Given the description of an element on the screen output the (x, y) to click on. 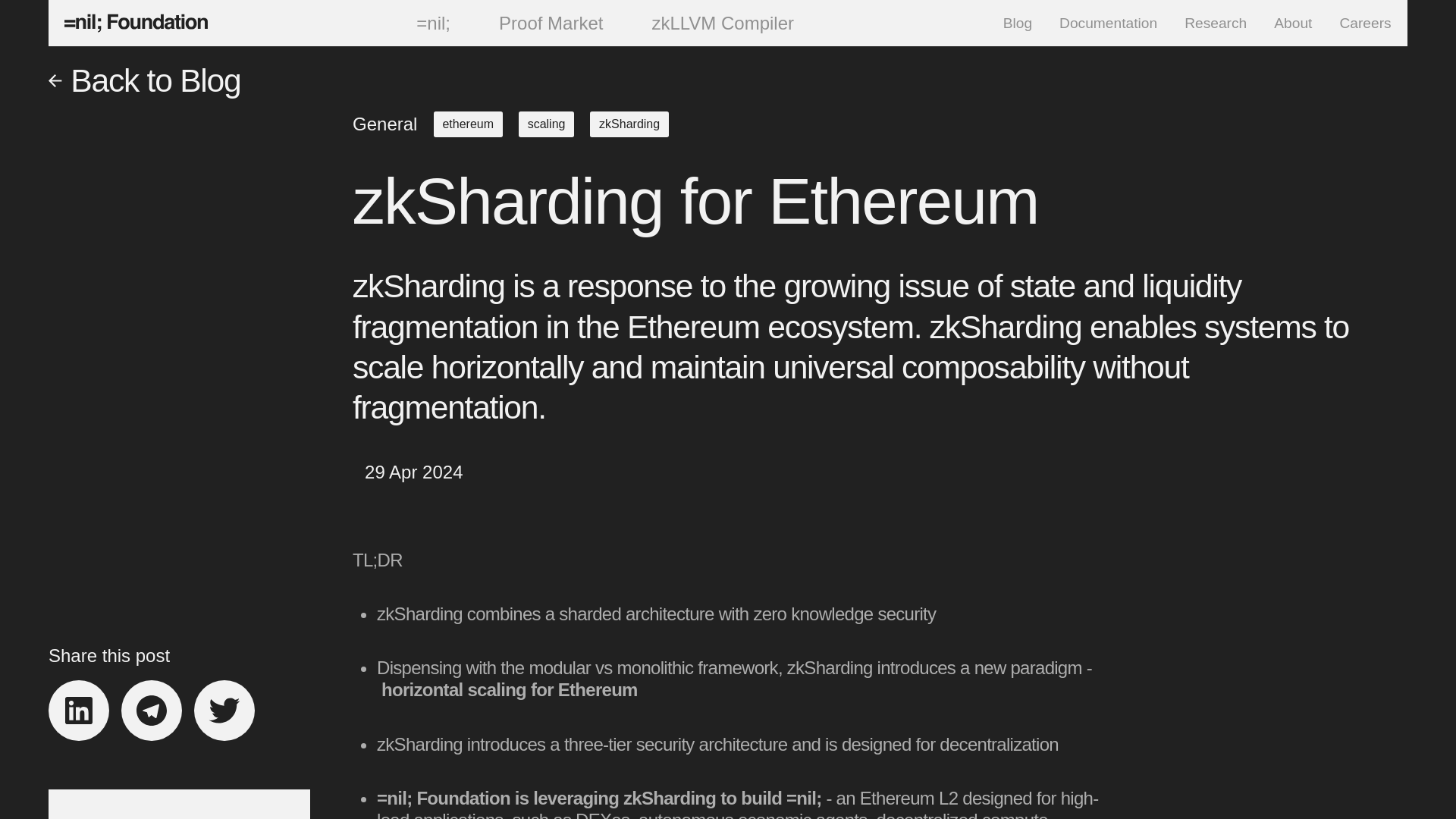
scaling (545, 124)
Documentation (1108, 22)
About (1292, 22)
zkSharding (628, 124)
ethereum (467, 124)
Careers (1364, 22)
zkLLVM Compiler (710, 23)
Proof Market (538, 23)
Research (1215, 22)
Blog (1017, 22)
Back to Blog (307, 80)
